Given the description of an element on the screen output the (x, y) to click on. 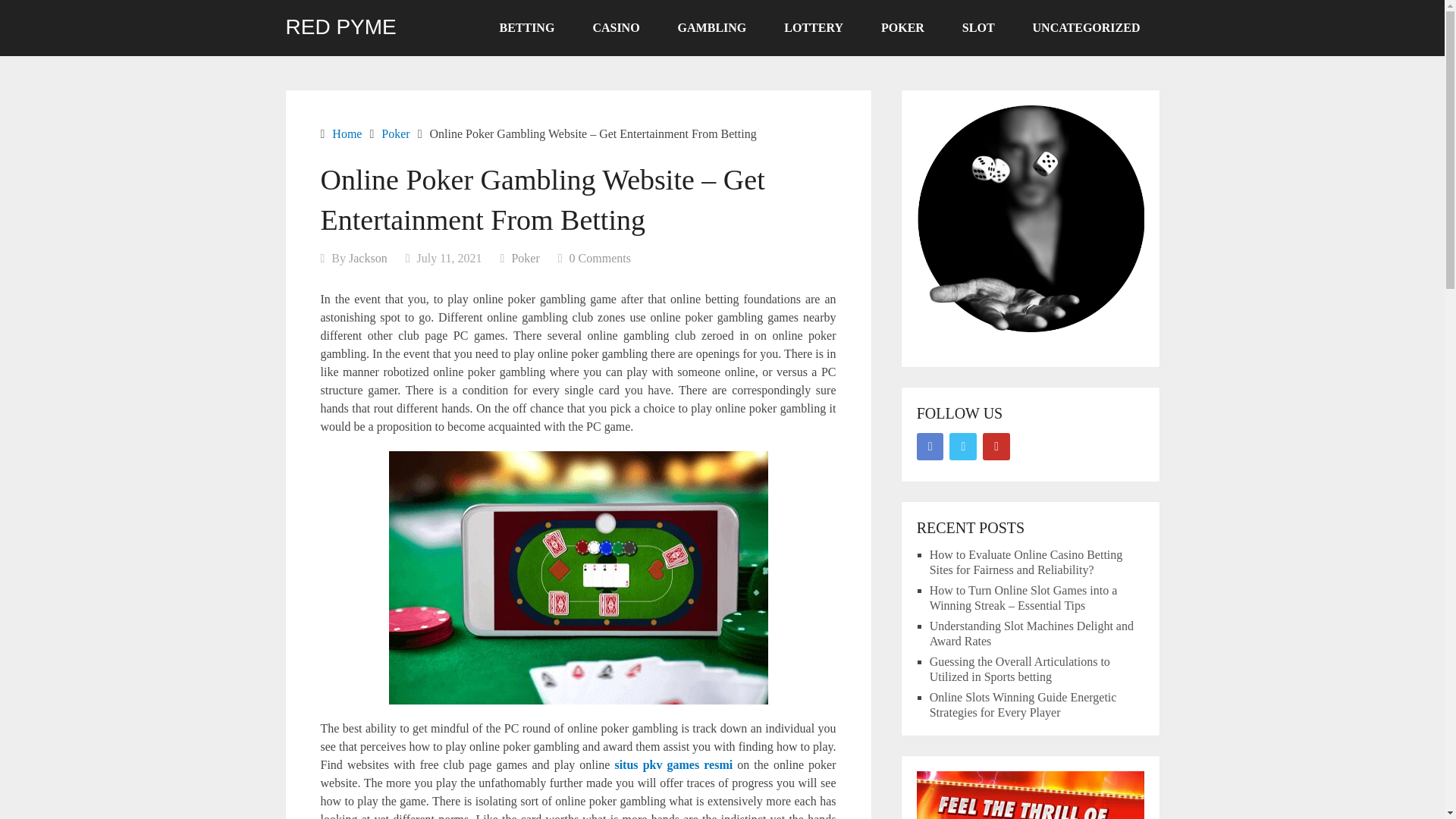
Home (346, 133)
Twitter (962, 446)
CASINO (615, 28)
LOTTERY (813, 28)
SLOT (978, 28)
UNCATEGORIZED (1085, 28)
GAMBLING (712, 28)
Facebook (930, 446)
Poker (395, 133)
YouTube (996, 446)
RED PYME (340, 26)
Jackson (368, 257)
Understanding Slot Machines Delight and Award Rates (1032, 633)
